Given the description of an element on the screen output the (x, y) to click on. 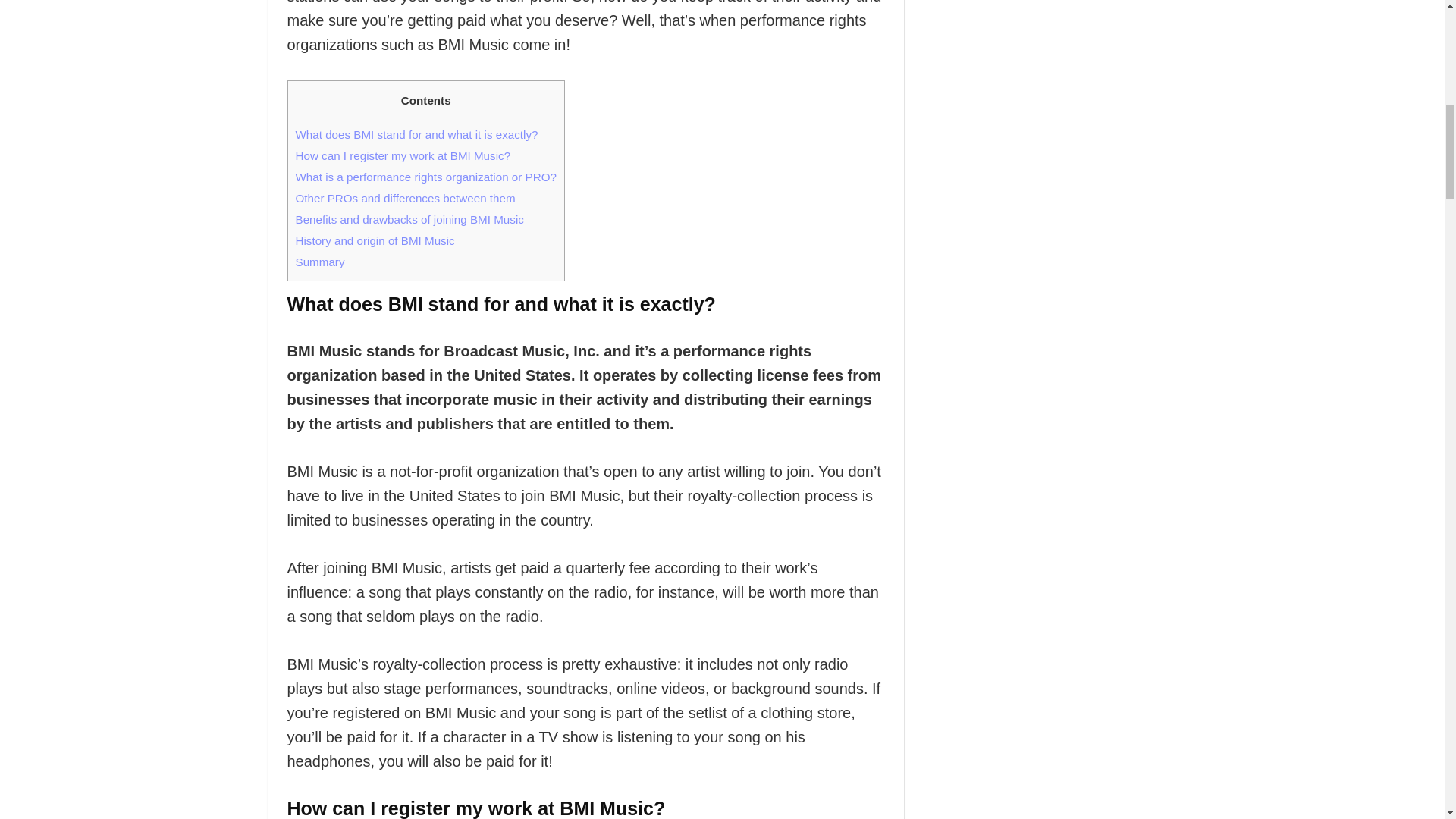
Benefits and drawbacks of joining BMI Music (409, 219)
History and origin of BMI Music (374, 240)
How can I register my work at BMI Music? (403, 155)
What is a performance rights organization or PRO? (425, 176)
Summary (320, 261)
What does BMI stand for and what it is exactly? (416, 133)
Other PROs and differences between them (405, 197)
